Given the description of an element on the screen output the (x, y) to click on. 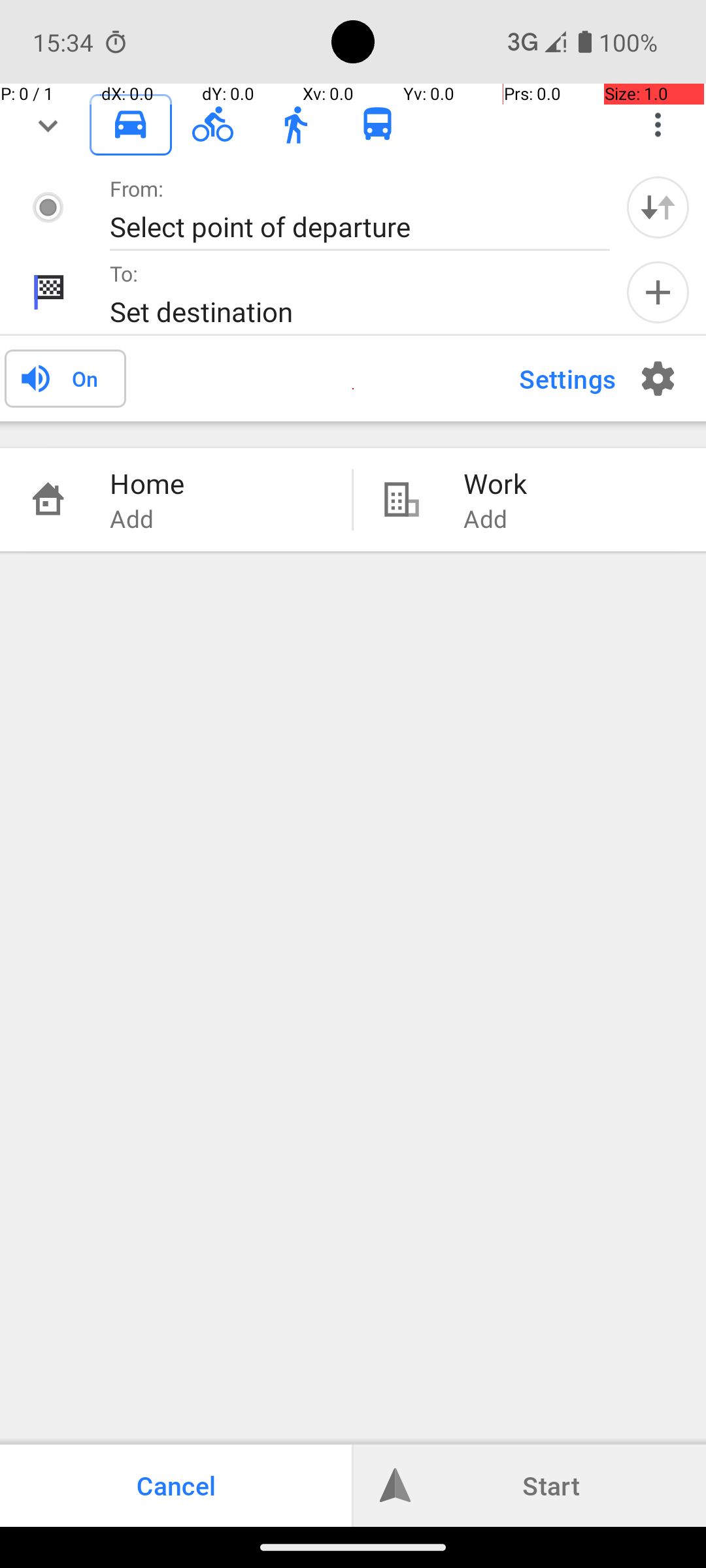
fold/unfold Element type: android.widget.ImageView (48, 124)
Choose app modes Element type: android.widget.ImageView (657, 124)
Driving Element type: android.widget.FrameLayout (130, 124)
Cycling Element type: android.widget.FrameLayout (212, 124)
Walking Element type: android.widget.FrameLayout (295, 124)
Public transport Element type: android.widget.FrameLayout (377, 124)
From: Element type: android.widget.TextView (136, 188)
Select point of departure Element type: android.widget.TextView (345, 226)
Swap Element type: android.widget.FrameLayout (657, 207)
To: Element type: android.widget.TextView (123, 273)
Set destination Element type: android.widget.TextView (345, 310)
Add Element type: android.widget.FrameLayout (657, 292)
Driving checked Element type: android.widget.ImageView (130, 124)
Cycling unchecked Element type: android.widget.ImageView (212, 124)
Walking unchecked Element type: android.widget.ImageView (294, 124)
Public transport unchecked Element type: android.widget.ImageView (377, 124)
On Element type: android.widget.TextView (84, 378)
